Given the description of an element on the screen output the (x, y) to click on. 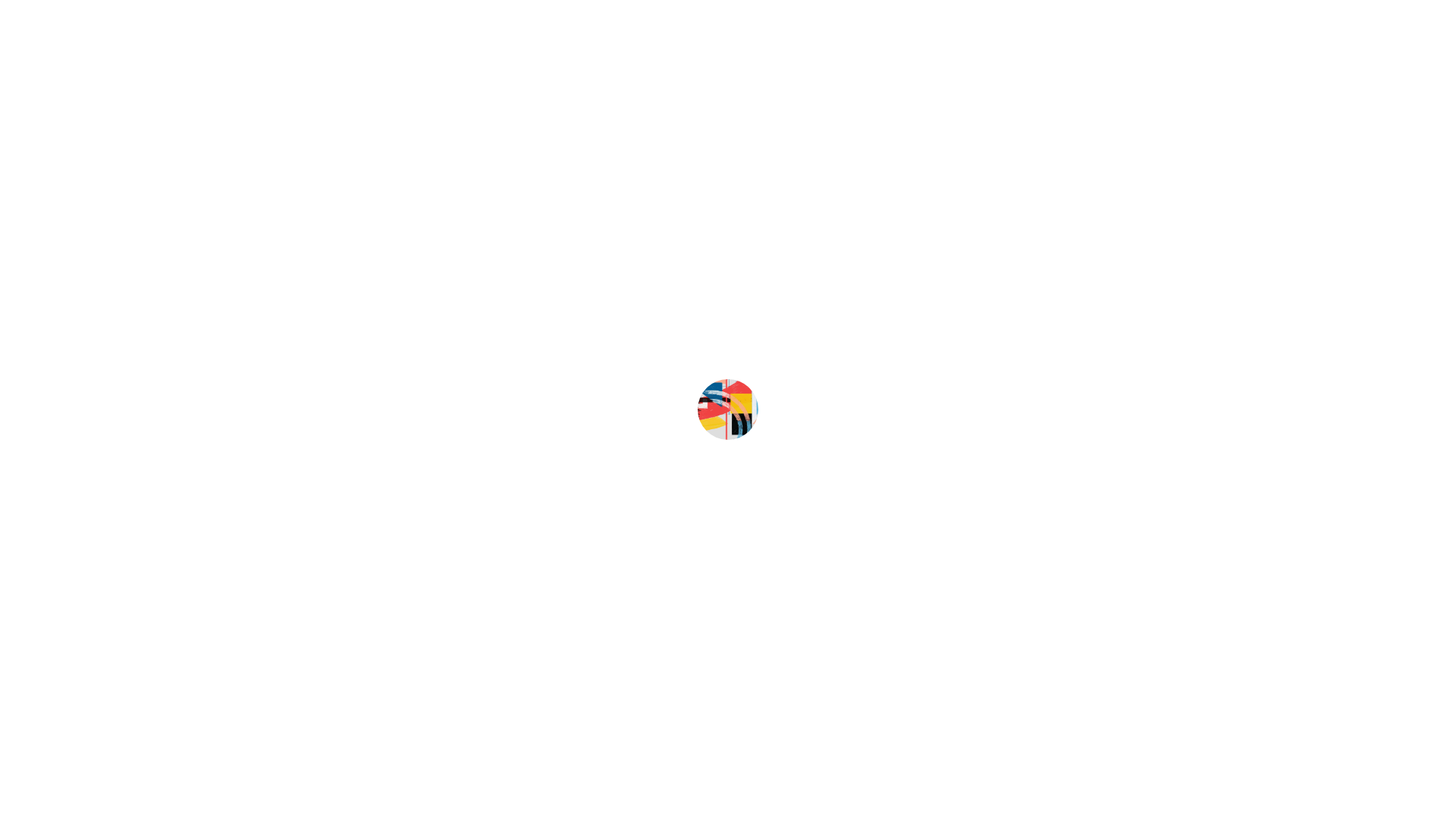
Contact Element type: text (243, 180)
Next Post Element type: text (1200, 359)
About Element type: text (237, 157)
My Work Element type: text (246, 132)
Blog Element type: text (232, 204)
Previous Post Element type: text (543, 359)
